Given the description of an element on the screen output the (x, y) to click on. 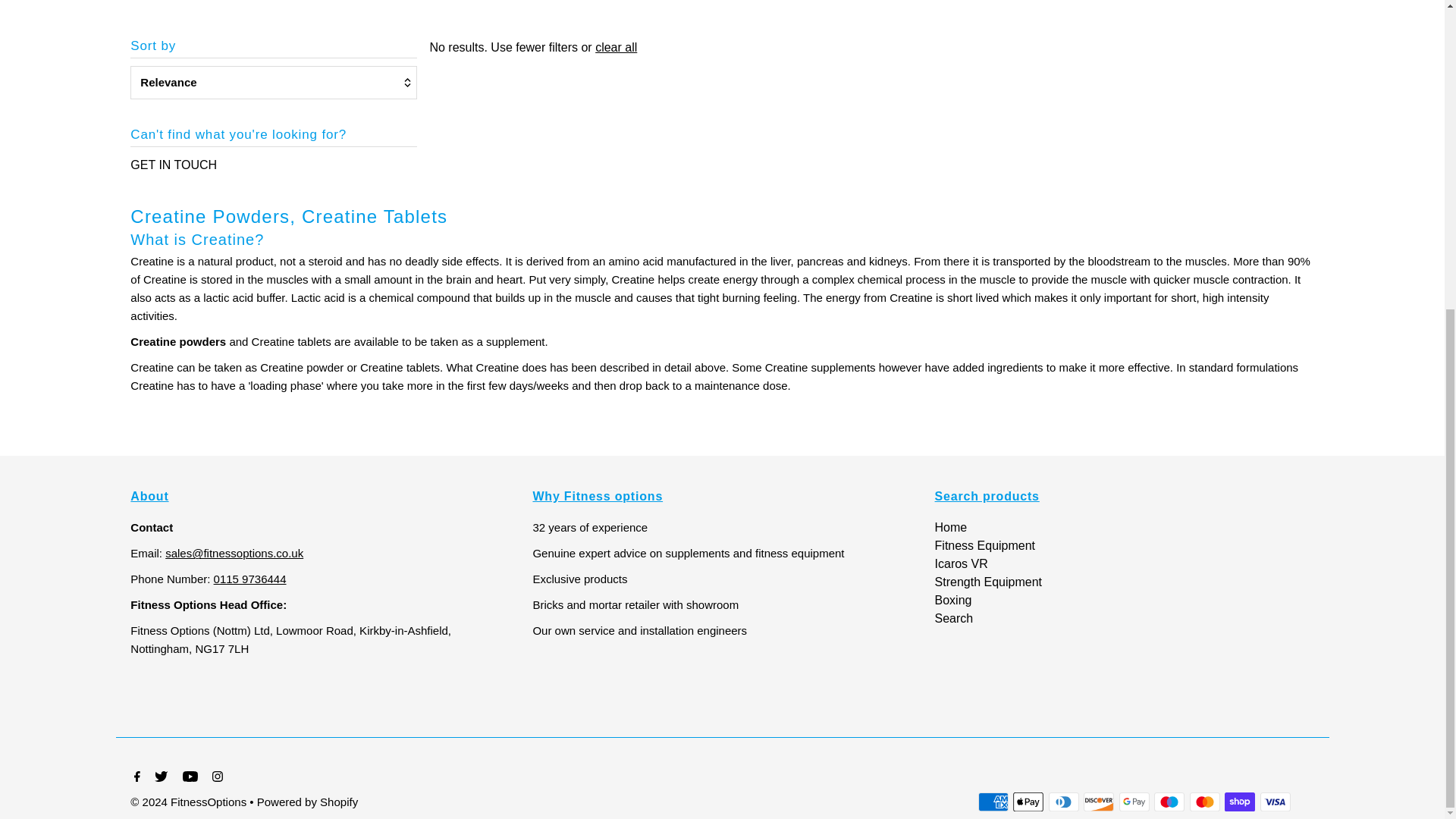
Apple Pay (1028, 801)
American Express (993, 801)
Diners Club (1063, 801)
tel:01159736444 (250, 578)
